Given the description of an element on the screen output the (x, y) to click on. 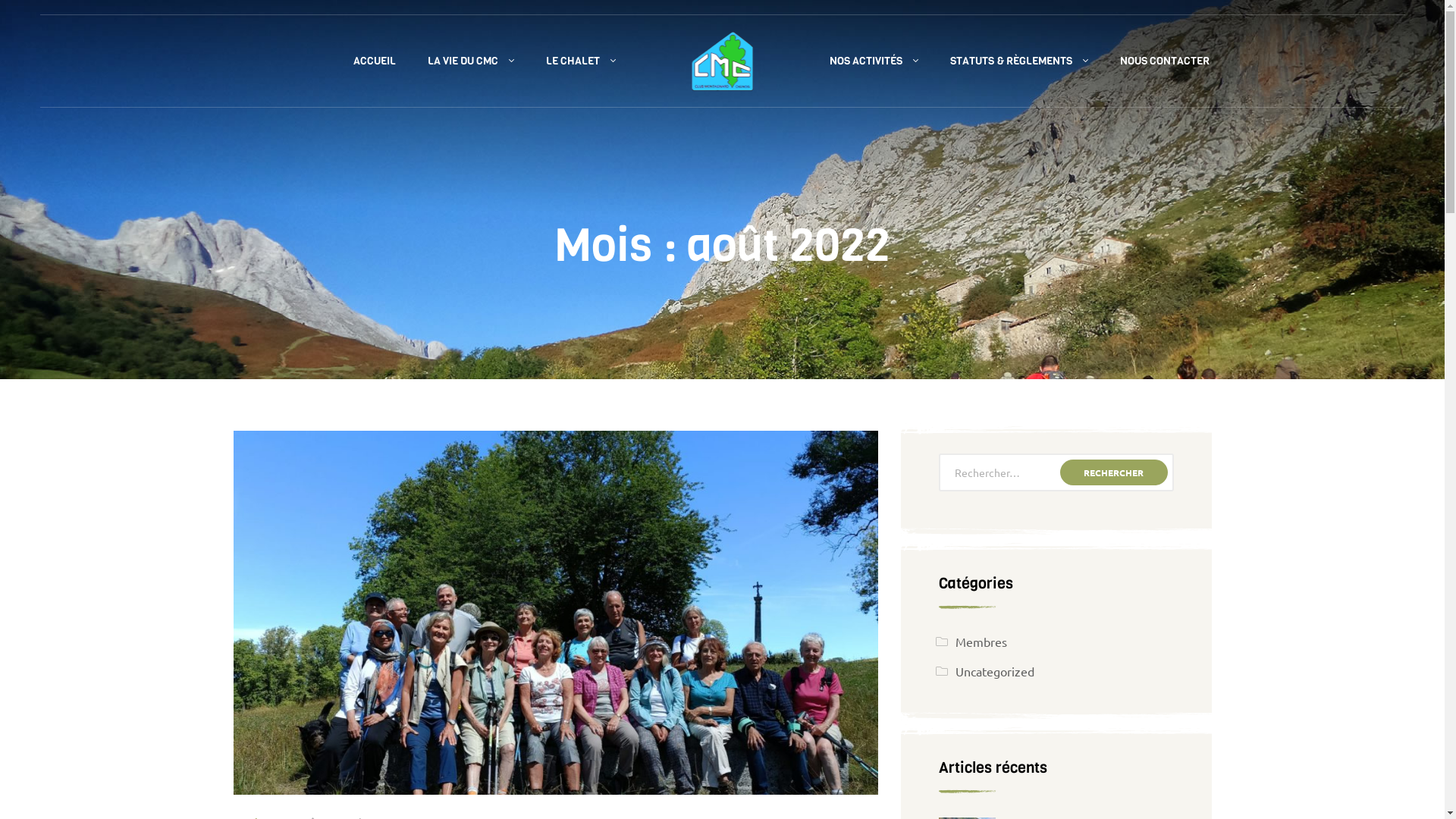
Rechercher Element type: text (1113, 472)
Uncategorized Element type: text (994, 670)
LE CHALET Element type: text (579, 61)
ACCUEIL Element type: text (373, 61)
LA VIE DU CMC Element type: text (470, 61)
Membres Element type: text (981, 641)
NOUS CONTACTER Element type: text (1164, 61)
